Given the description of an element on the screen output the (x, y) to click on. 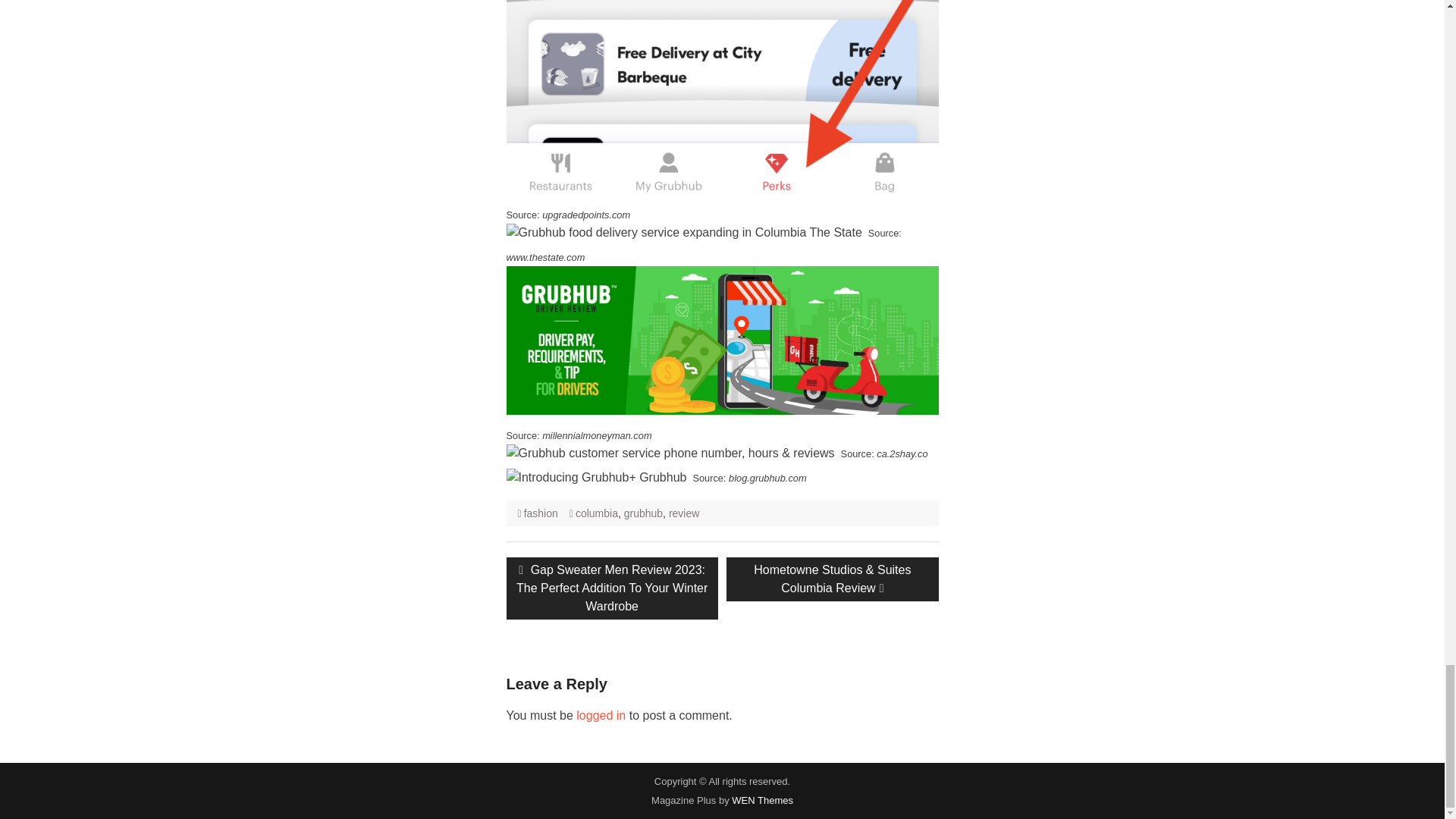
fashion (540, 512)
columbia (596, 512)
grubhub (643, 512)
review (683, 512)
